Given the description of an element on the screen output the (x, y) to click on. 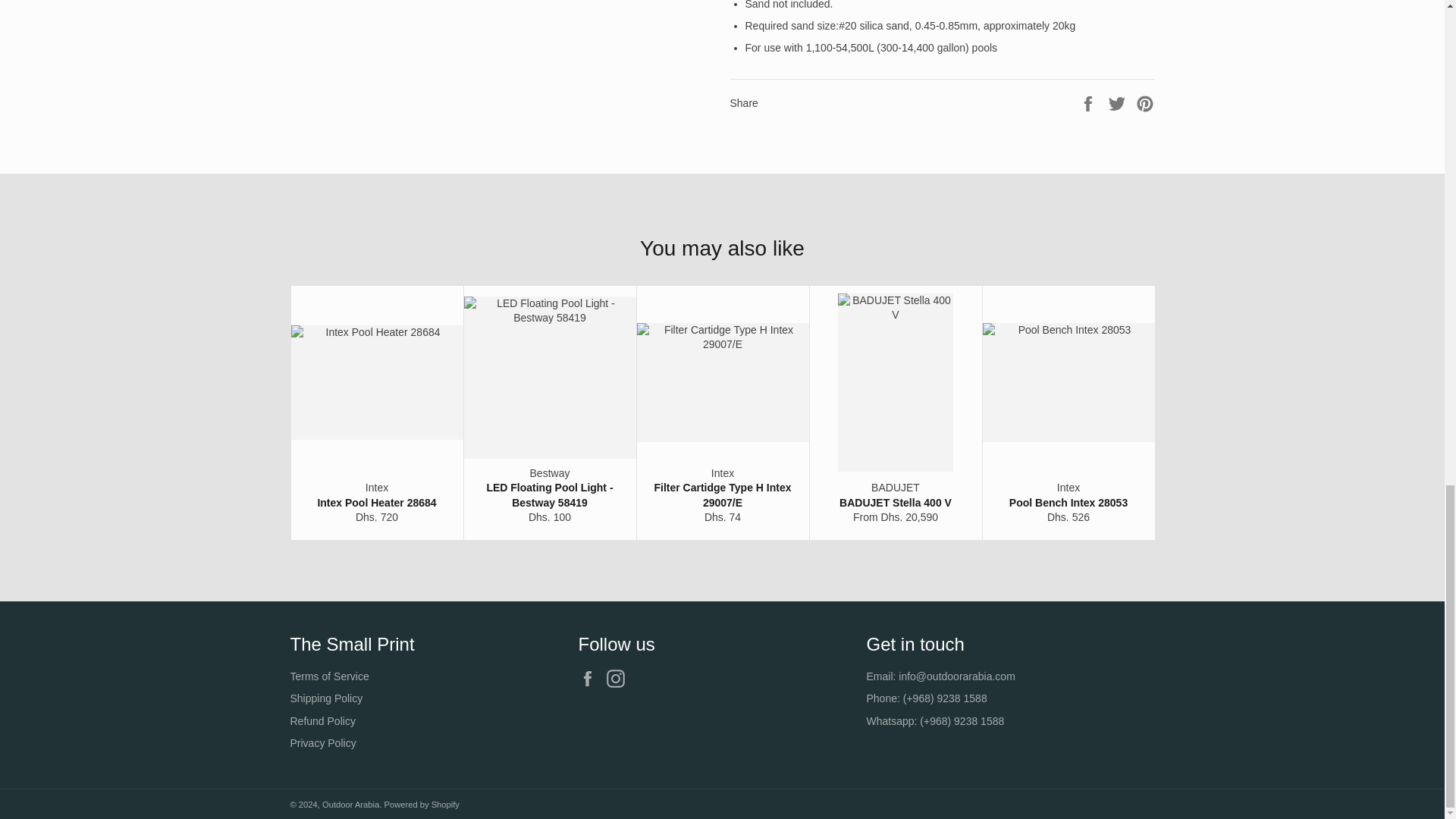
Outdoor Arabia on Facebook (591, 678)
Contact Us (956, 676)
Outdoor Arabia on Instagram (619, 678)
Share on Facebook (1089, 102)
Pin on Pinterest (1144, 102)
Tweet on Twitter (1118, 102)
